Given the description of an element on the screen output the (x, y) to click on. 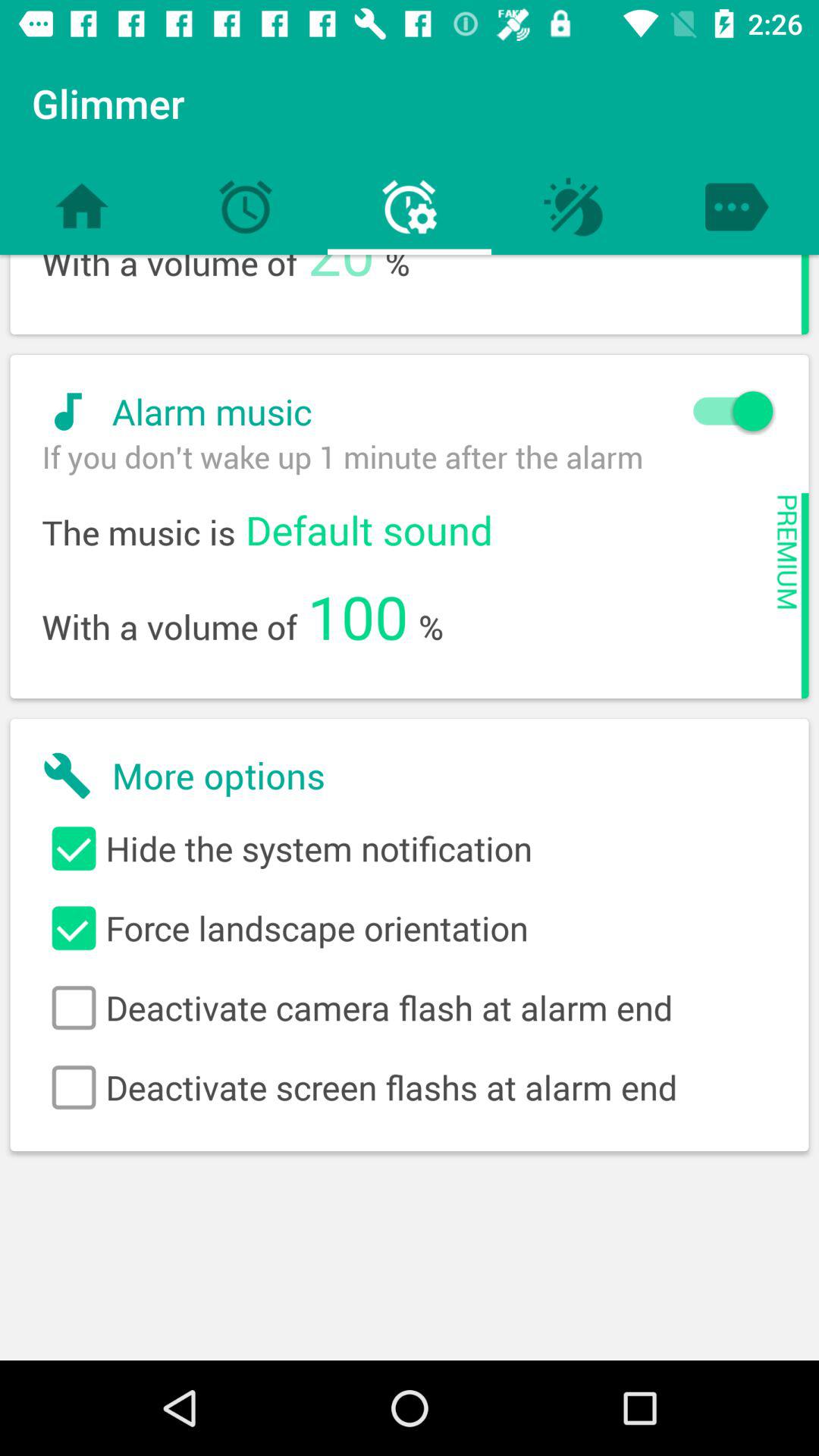
open the item below hide the system (409, 928)
